Given the description of an element on the screen output the (x, y) to click on. 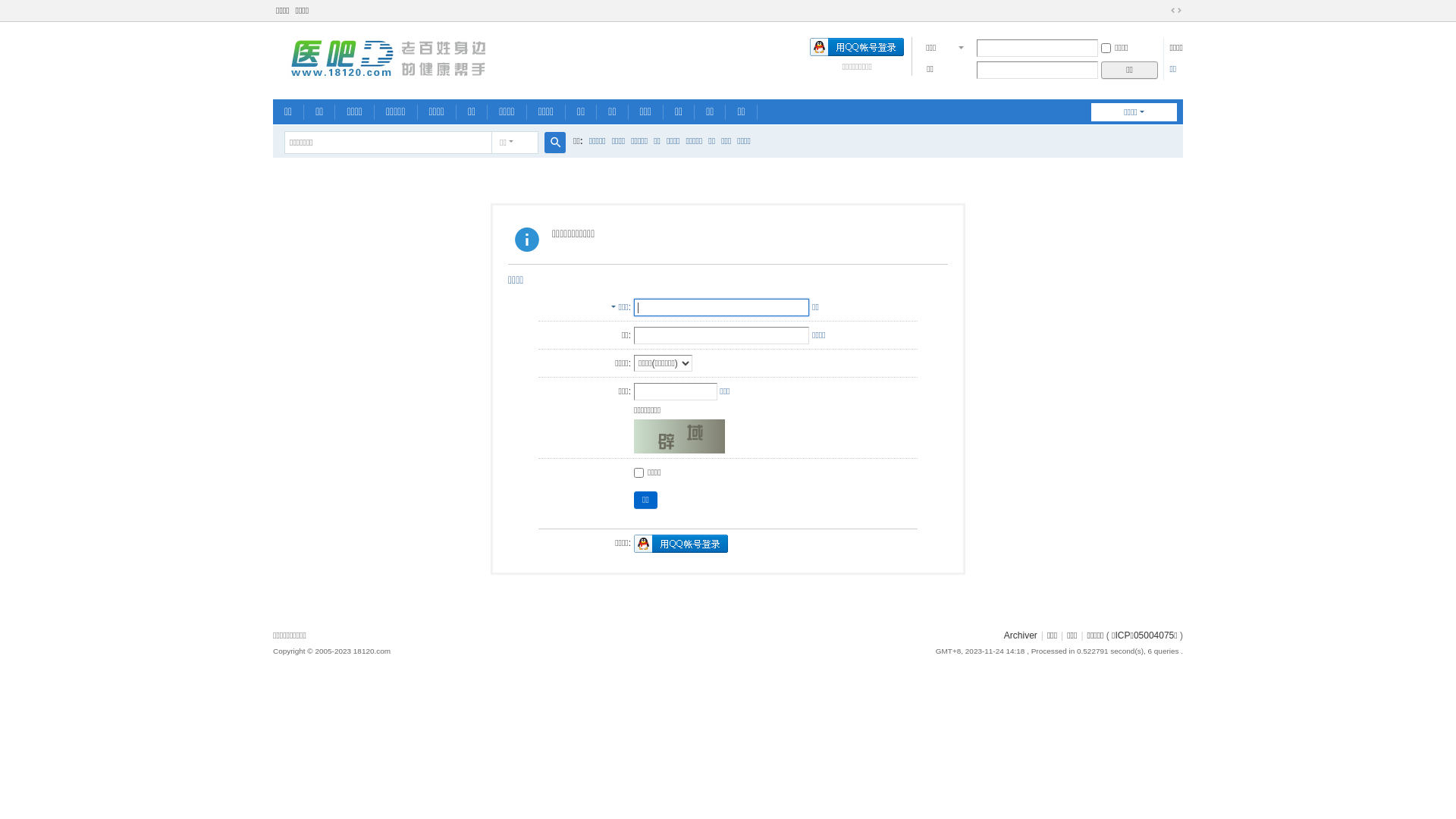
true Element type: text (554, 142)
Archiver Element type: text (1020, 635)
